Given the description of an element on the screen output the (x, y) to click on. 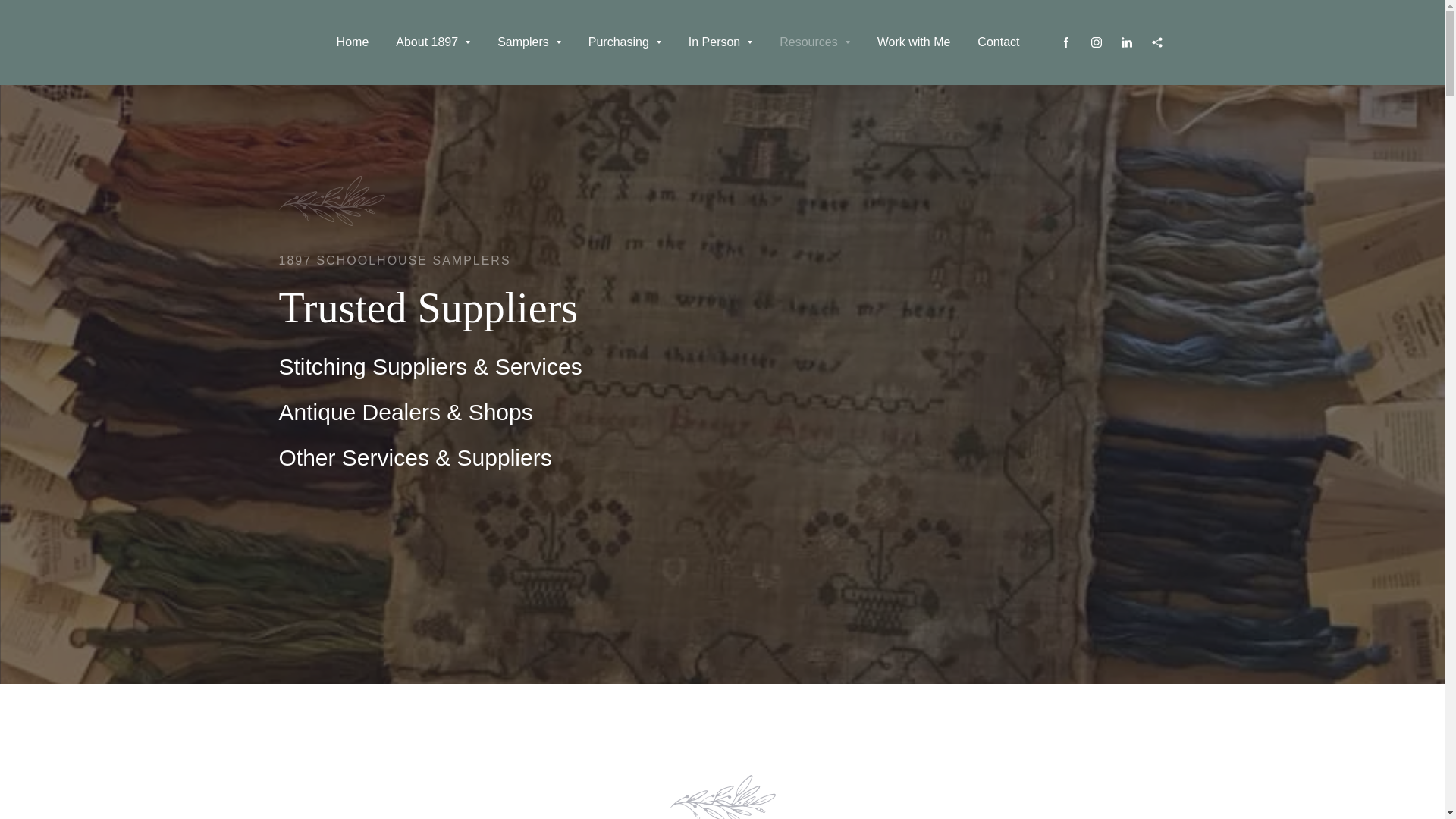
In Person Element type: text (720, 42)
Work with Me Element type: text (913, 42)
Purchasing Element type: text (624, 42)
Resources Element type: text (814, 42)
Samplers Element type: text (529, 42)
Contact Element type: text (998, 42)
Home Element type: text (352, 42)
About 1897 Element type: text (432, 42)
